Given the description of an element on the screen output the (x, y) to click on. 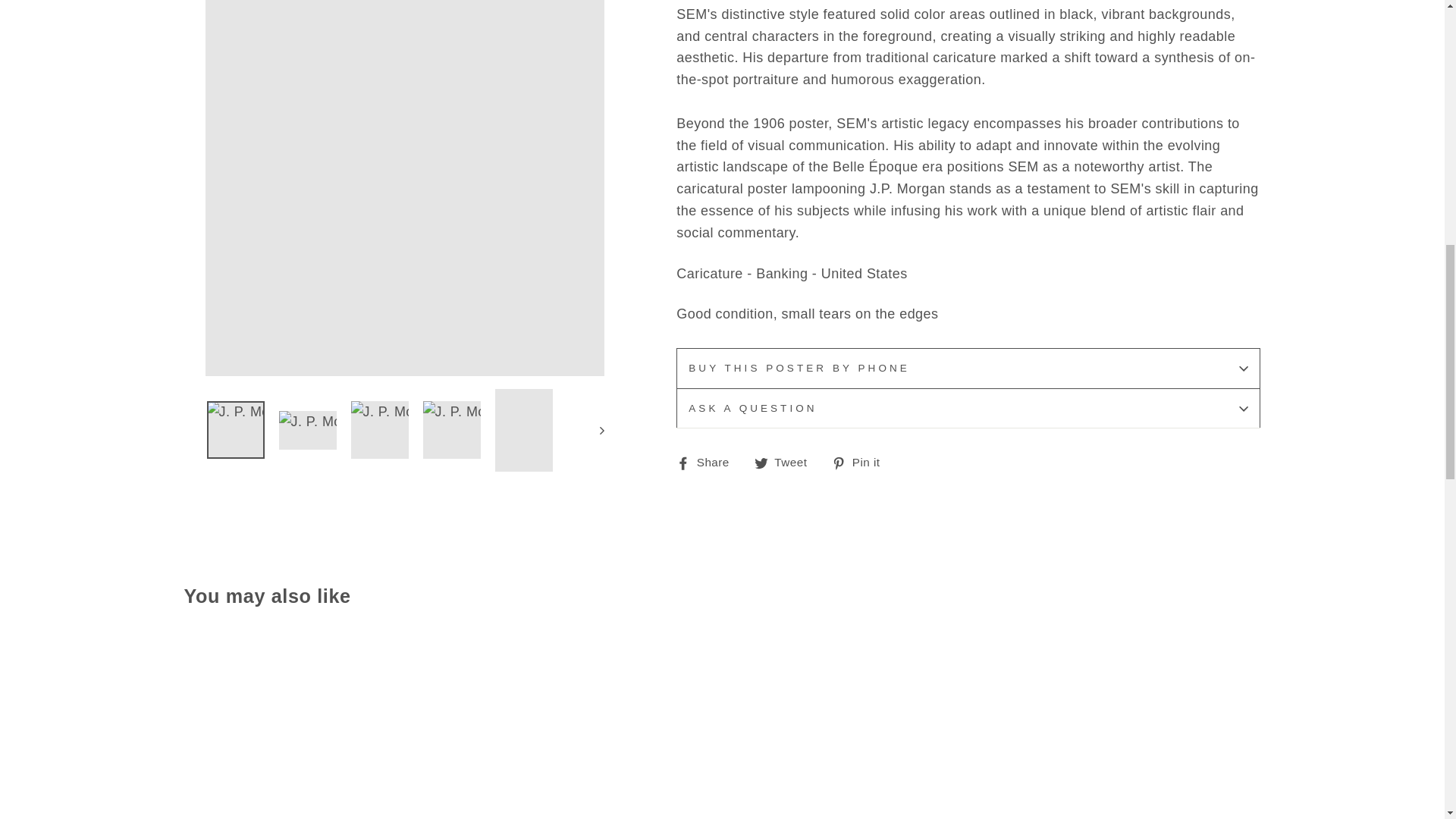
Pin on Pinterest (861, 462)
Share on Facebook (709, 462)
Tweet on Twitter (786, 462)
